Given the description of an element on the screen output the (x, y) to click on. 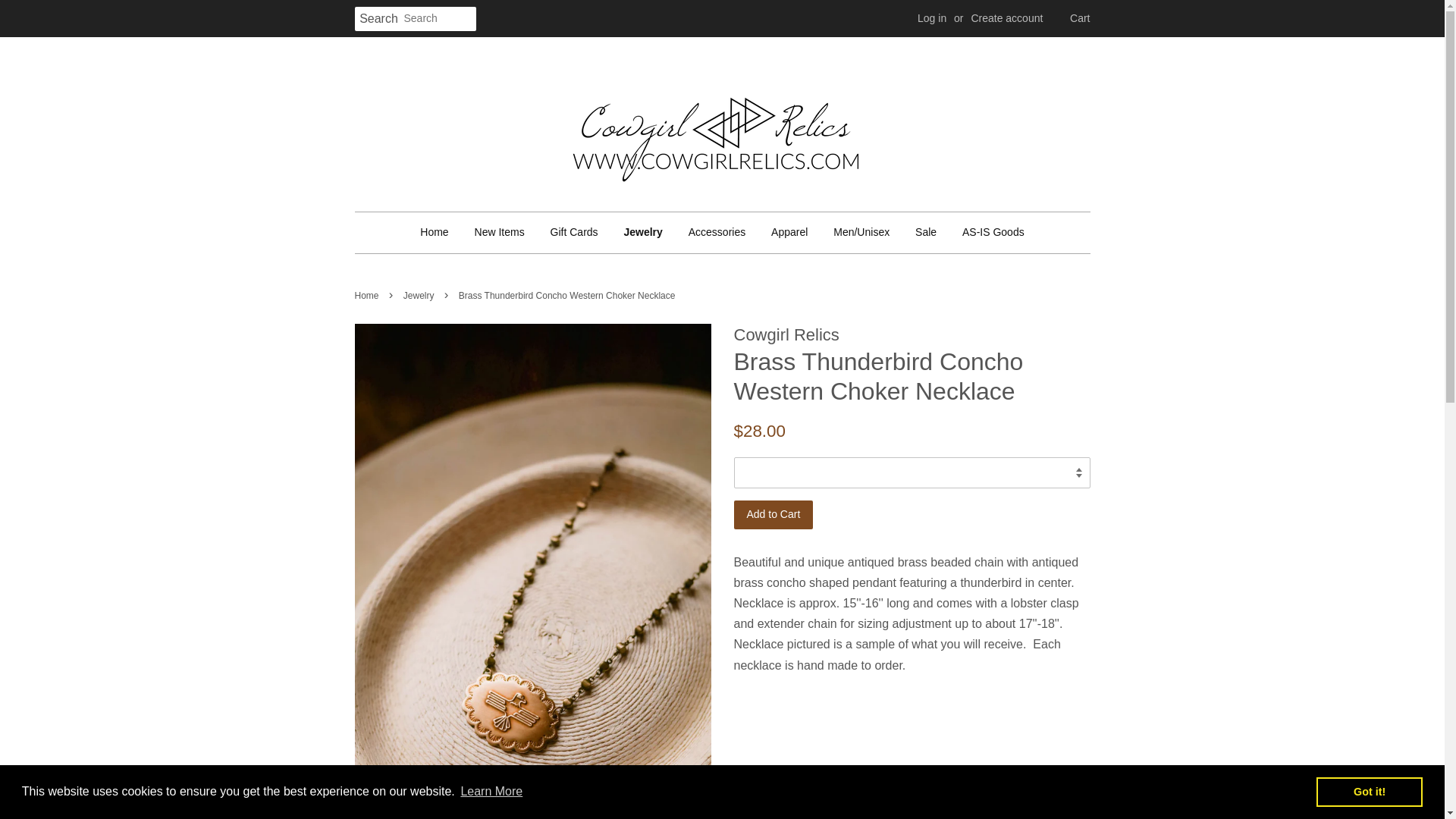
Log in (931, 18)
Create account (1006, 18)
Got it! (1369, 791)
Back to the frontpage (368, 295)
Jewelry (641, 232)
Gift Cards (574, 232)
Learn More (491, 791)
Home (440, 232)
Search (379, 18)
Cart (1079, 18)
New Items (499, 232)
